Given the description of an element on the screen output the (x, y) to click on. 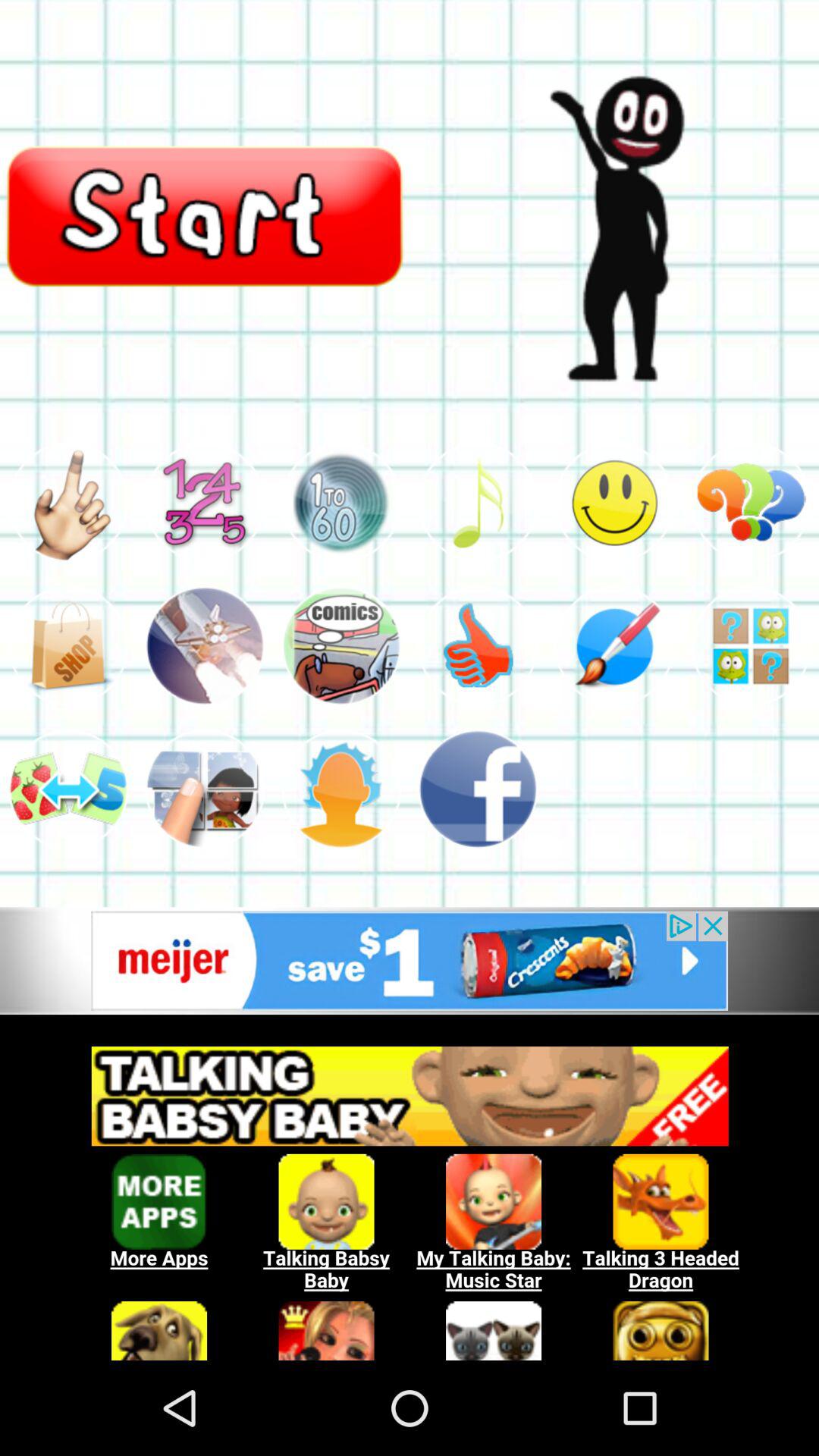
choose this (341, 502)
